Given the description of an element on the screen output the (x, y) to click on. 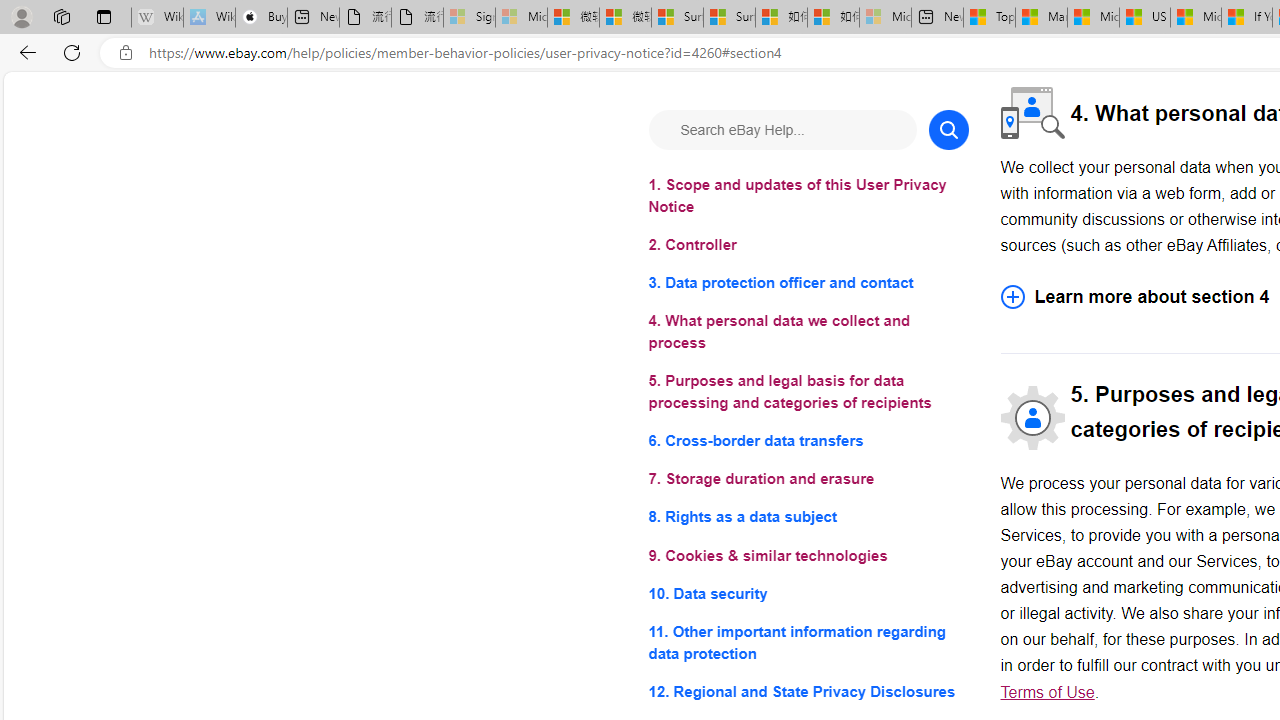
4. What personal data we collect and process (807, 332)
9. Cookies & similar technologies (807, 555)
3. Data protection officer and contact (807, 283)
7. Storage duration and erasure (807, 479)
8. Rights as a data subject (807, 517)
10. Data security (807, 592)
11. Other important information regarding data protection (807, 642)
4. What personal data we collect and process (807, 332)
Search eBay Help... (781, 129)
1. Scope and updates of this User Privacy Notice (807, 196)
